Given the description of an element on the screen output the (x, y) to click on. 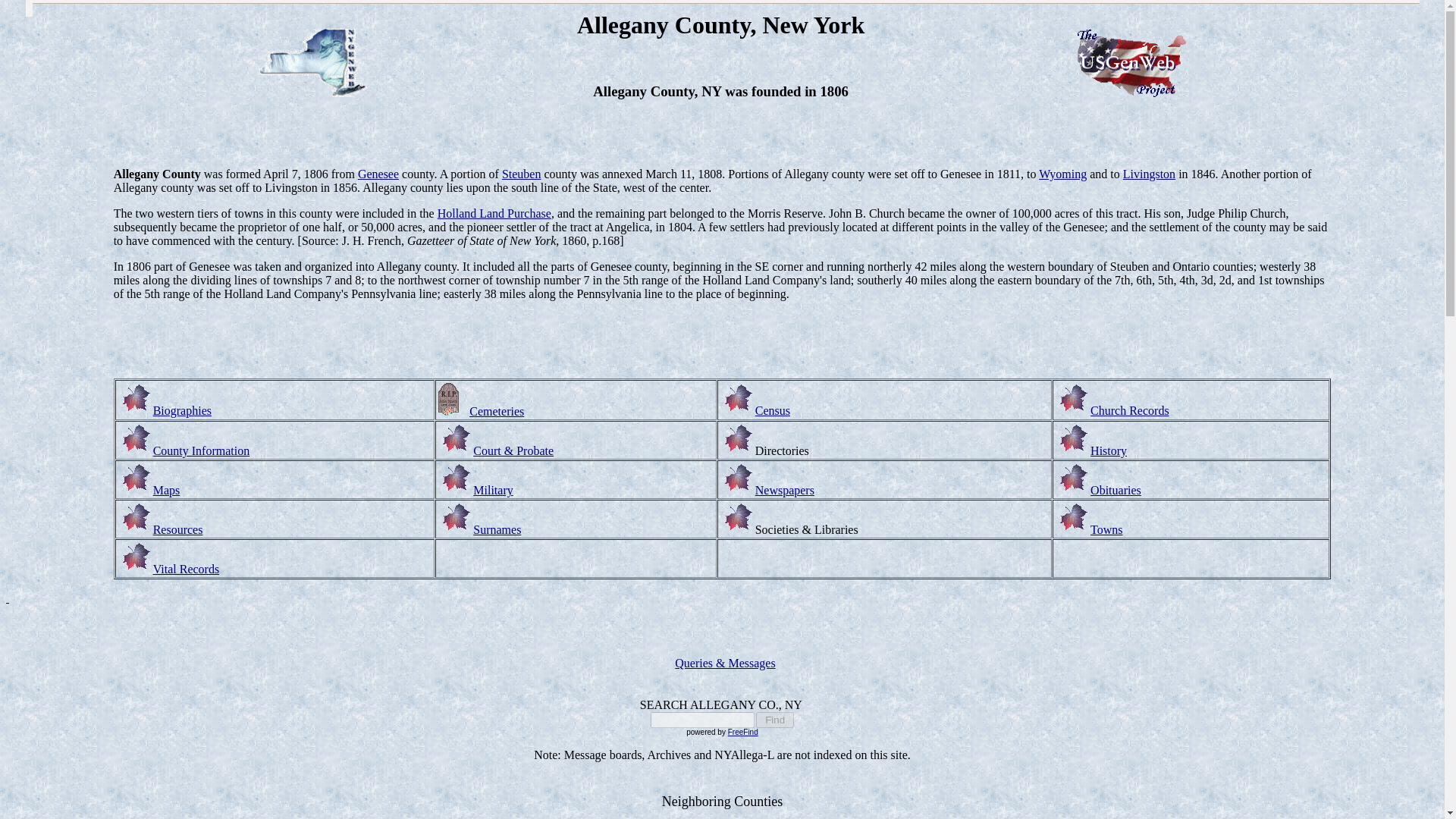
Steuben (521, 173)
 Find  (774, 719)
Wyoming (1062, 173)
Census (772, 410)
Newspapers (784, 490)
Holland Land Purchase (494, 213)
Military (492, 490)
Surnames (497, 529)
Livingston (1148, 173)
Genesee (378, 173)
